Given the description of an element on the screen output the (x, y) to click on. 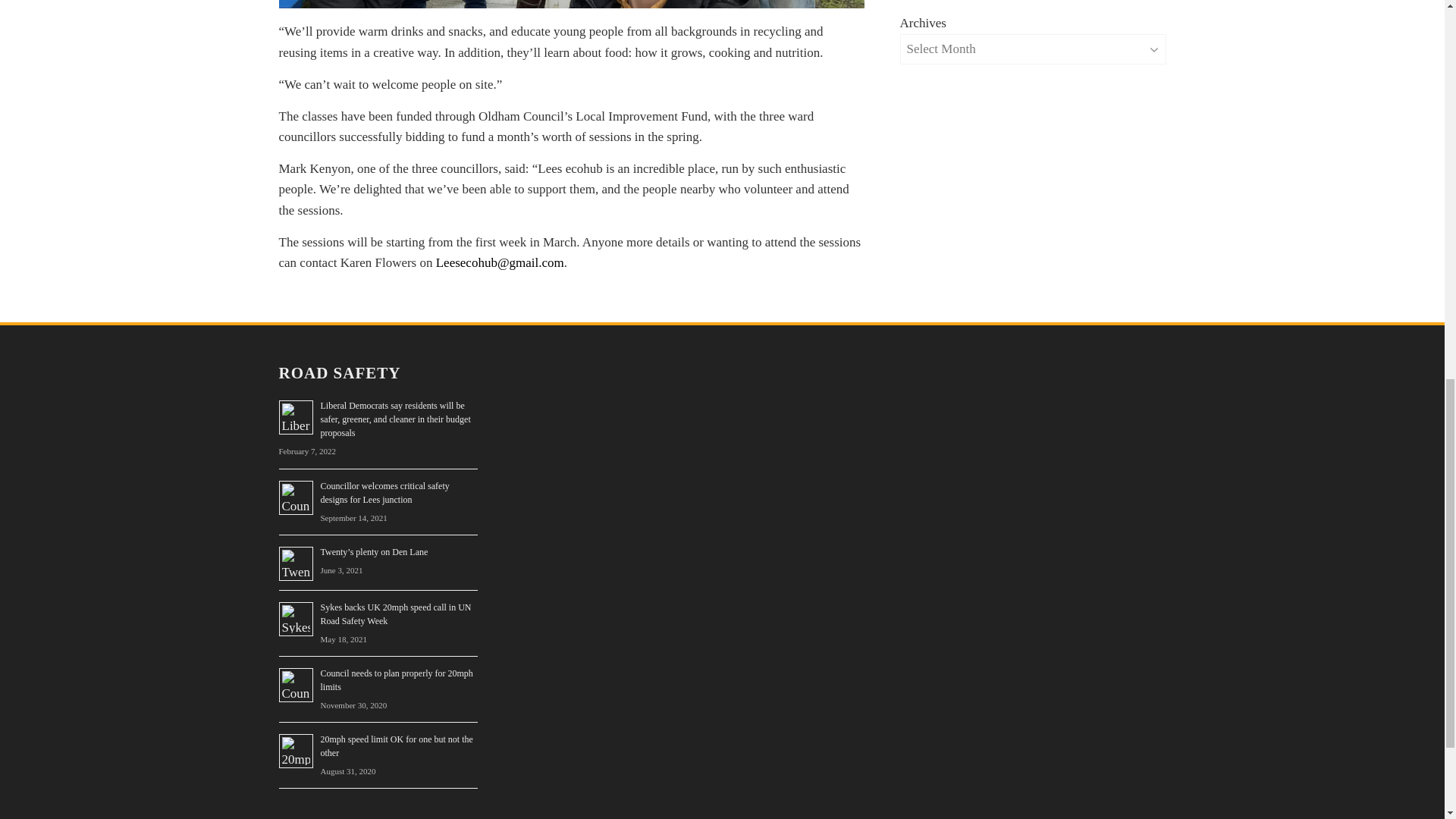
Sykes backs UK 20mph speed call in UN Road Safety Week (395, 613)
Council needs to plan properly for 20mph limits (395, 680)
